Given the description of an element on the screen output the (x, y) to click on. 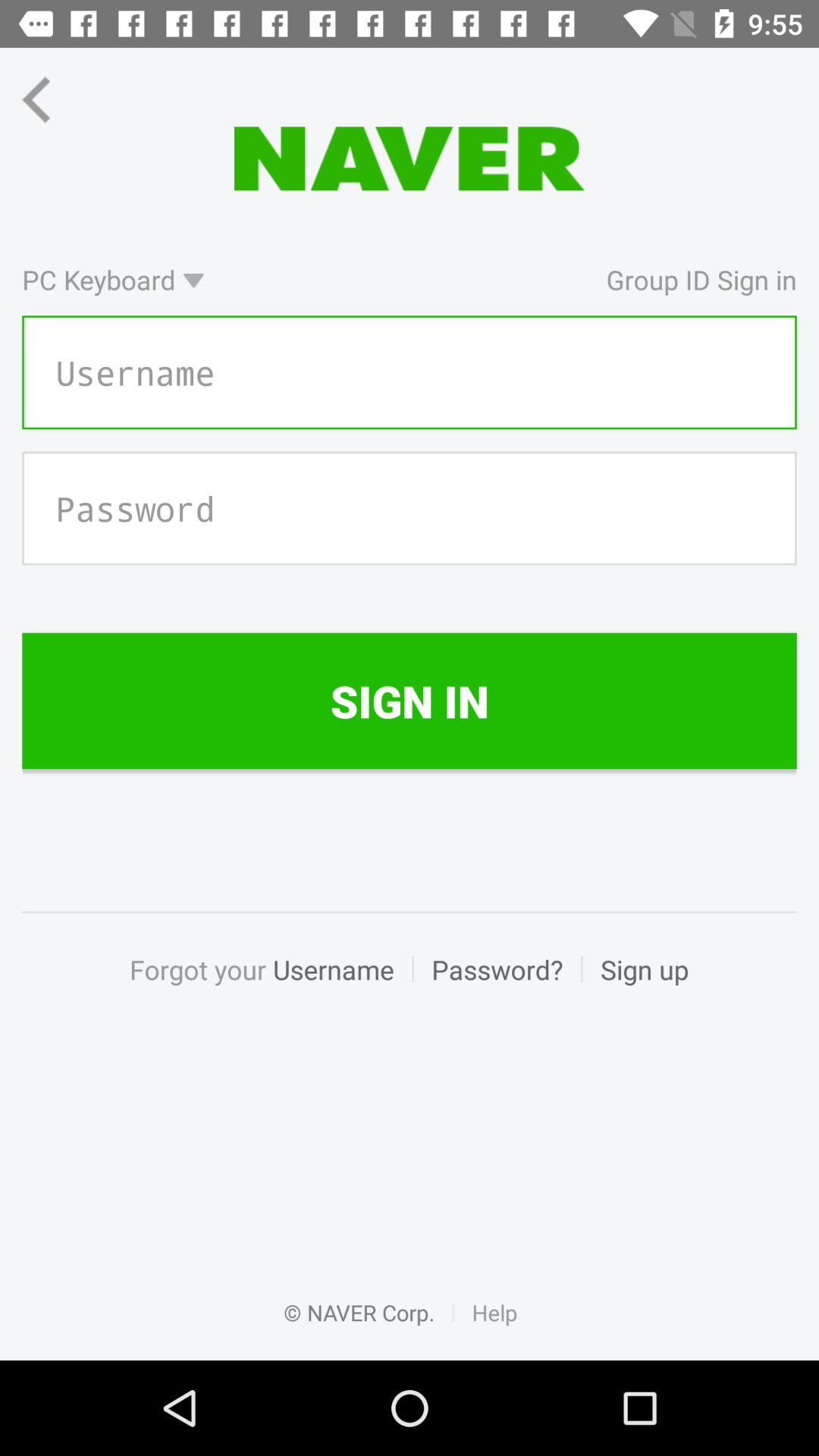
password input (409, 508)
